Given the description of an element on the screen output the (x, y) to click on. 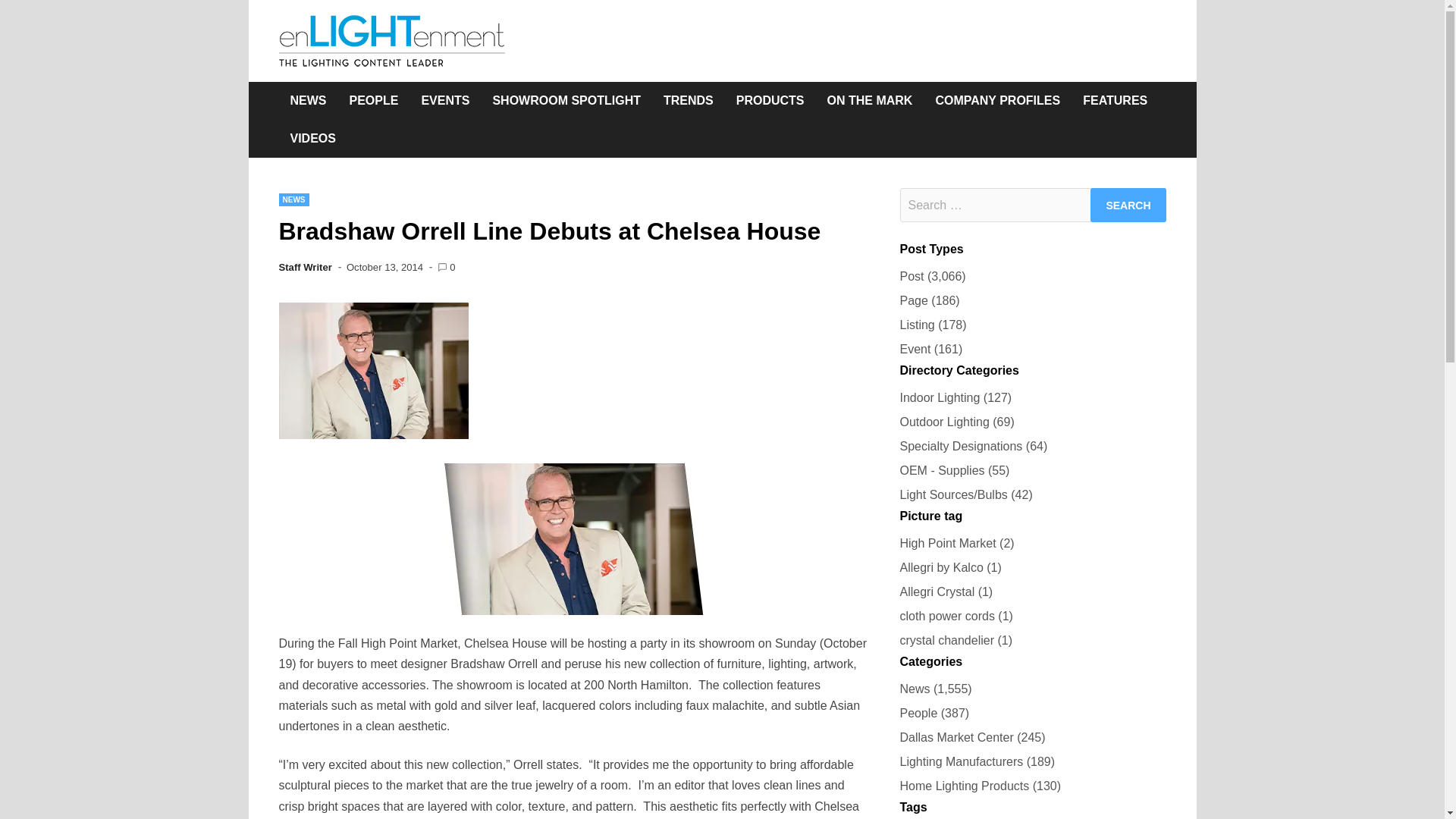
ON THE MARK (869, 100)
Search (1128, 204)
Staff Writer (305, 266)
EVENTS (444, 100)
FEATURES (1114, 100)
PRODUCTS (770, 100)
COMPANY PROFILES (997, 100)
TRENDS (688, 100)
Search (1128, 204)
VIDEOS (313, 138)
